Given the description of an element on the screen output the (x, y) to click on. 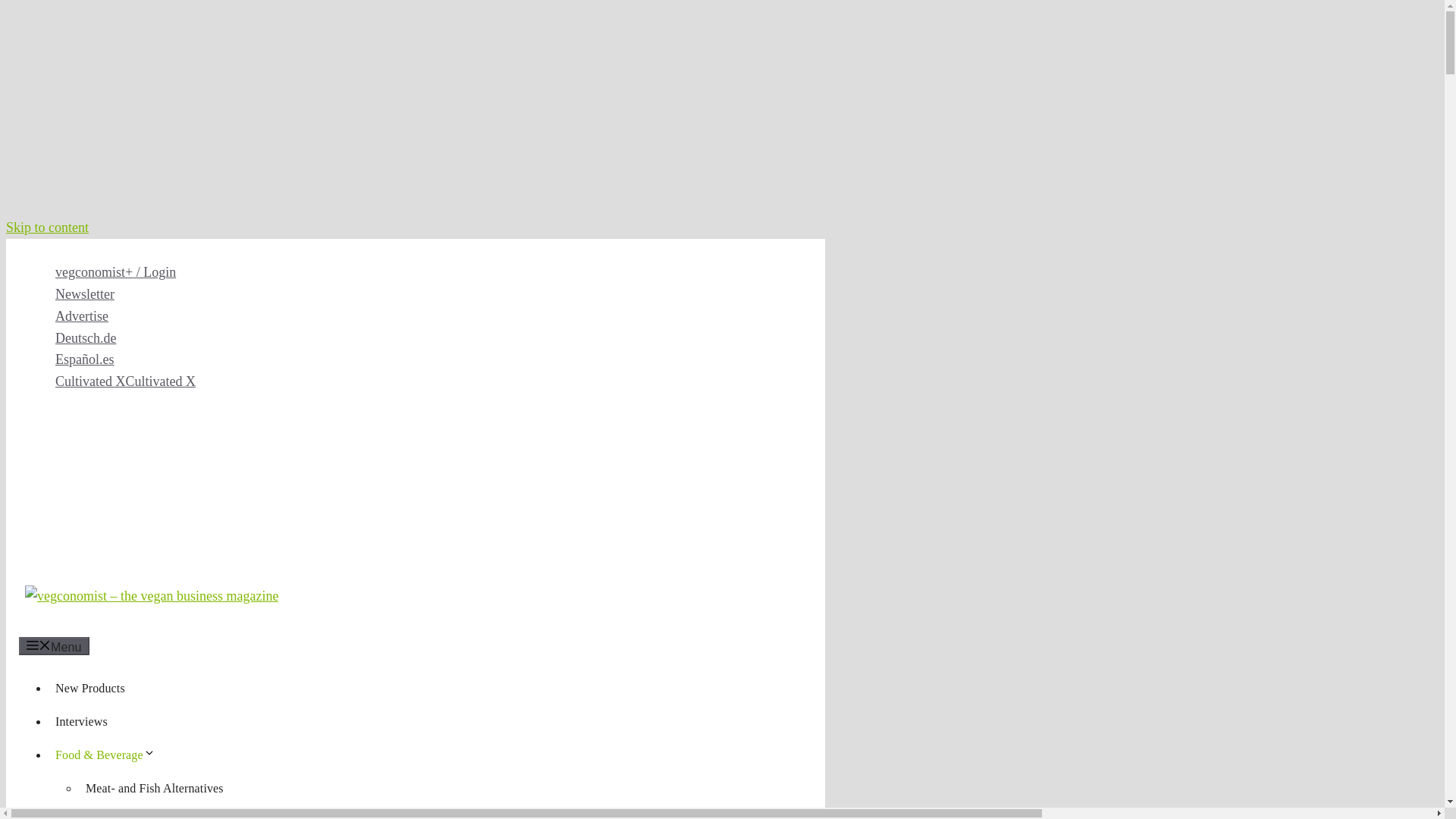
Cultivated XCultivated X (125, 381)
Meat- and Fish Alternatives (155, 788)
Advertise (81, 315)
Skip to content (46, 227)
Cheese Alternatives (135, 814)
Interviews (81, 721)
Deutsch.de (85, 337)
Skip to content (46, 227)
Menu (53, 646)
New Products (90, 687)
